Given the description of an element on the screen output the (x, y) to click on. 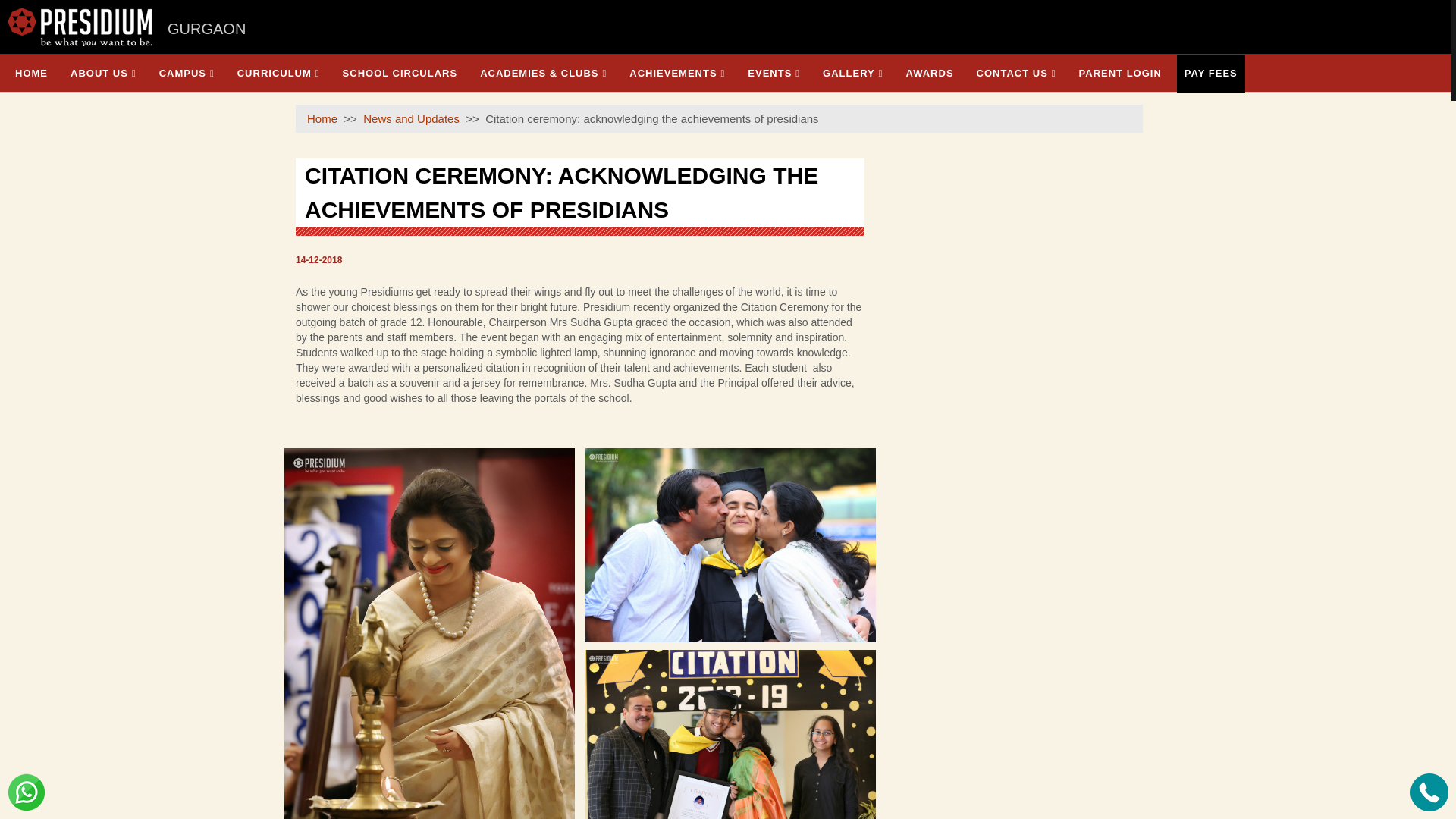
ABOUT US (103, 72)
CAMPUS (186, 72)
CURRICULUM (278, 72)
SCHOOL CIRCULARS (399, 72)
HOME (31, 72)
